Given the description of an element on the screen output the (x, y) to click on. 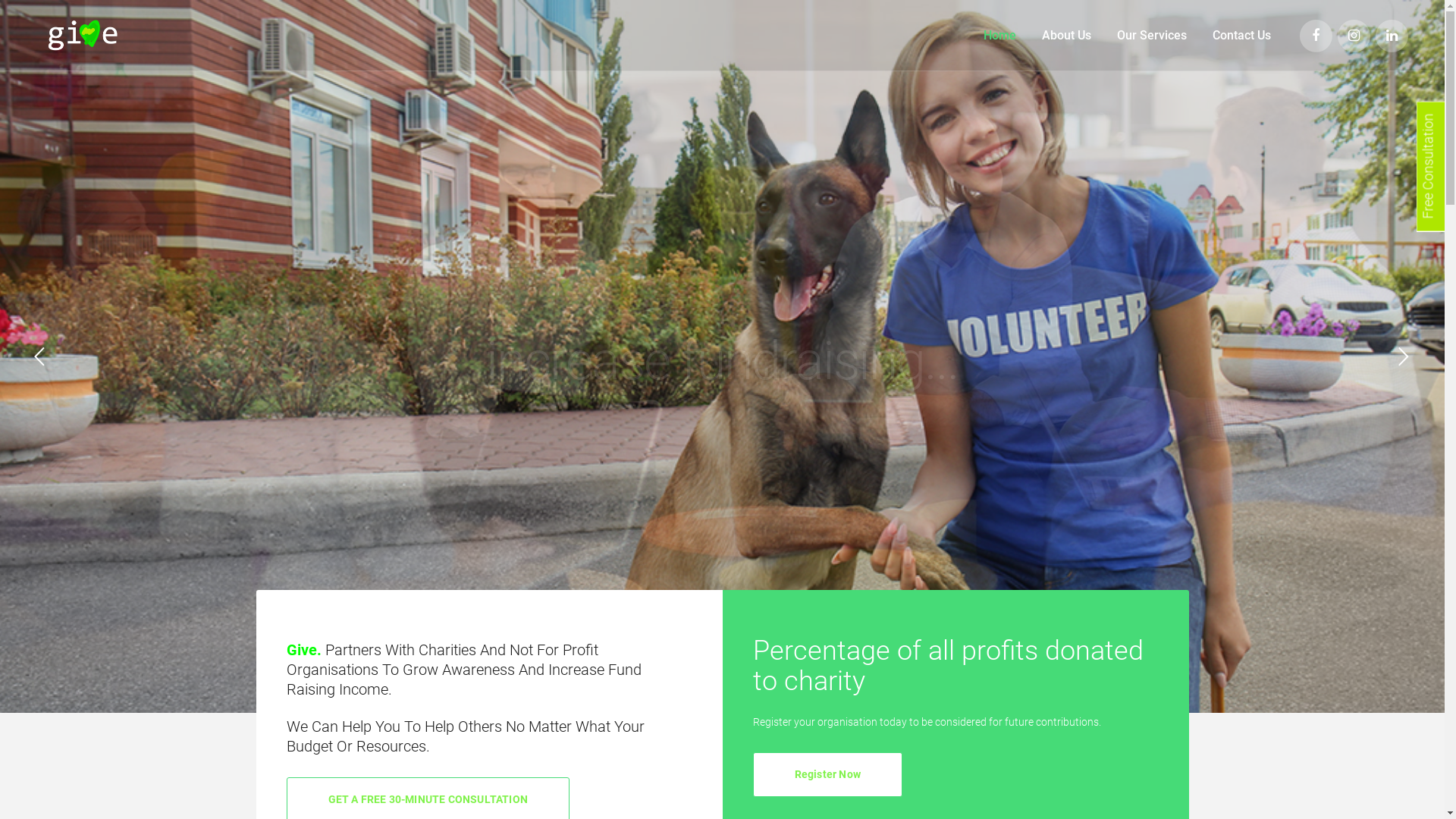
Register Now Element type: text (826, 774)
Our Services Element type: text (1151, 35)
Contact Us Element type: text (1241, 35)
About Us Element type: text (1066, 35)
Home Element type: text (999, 35)
